Given the description of an element on the screen output the (x, y) to click on. 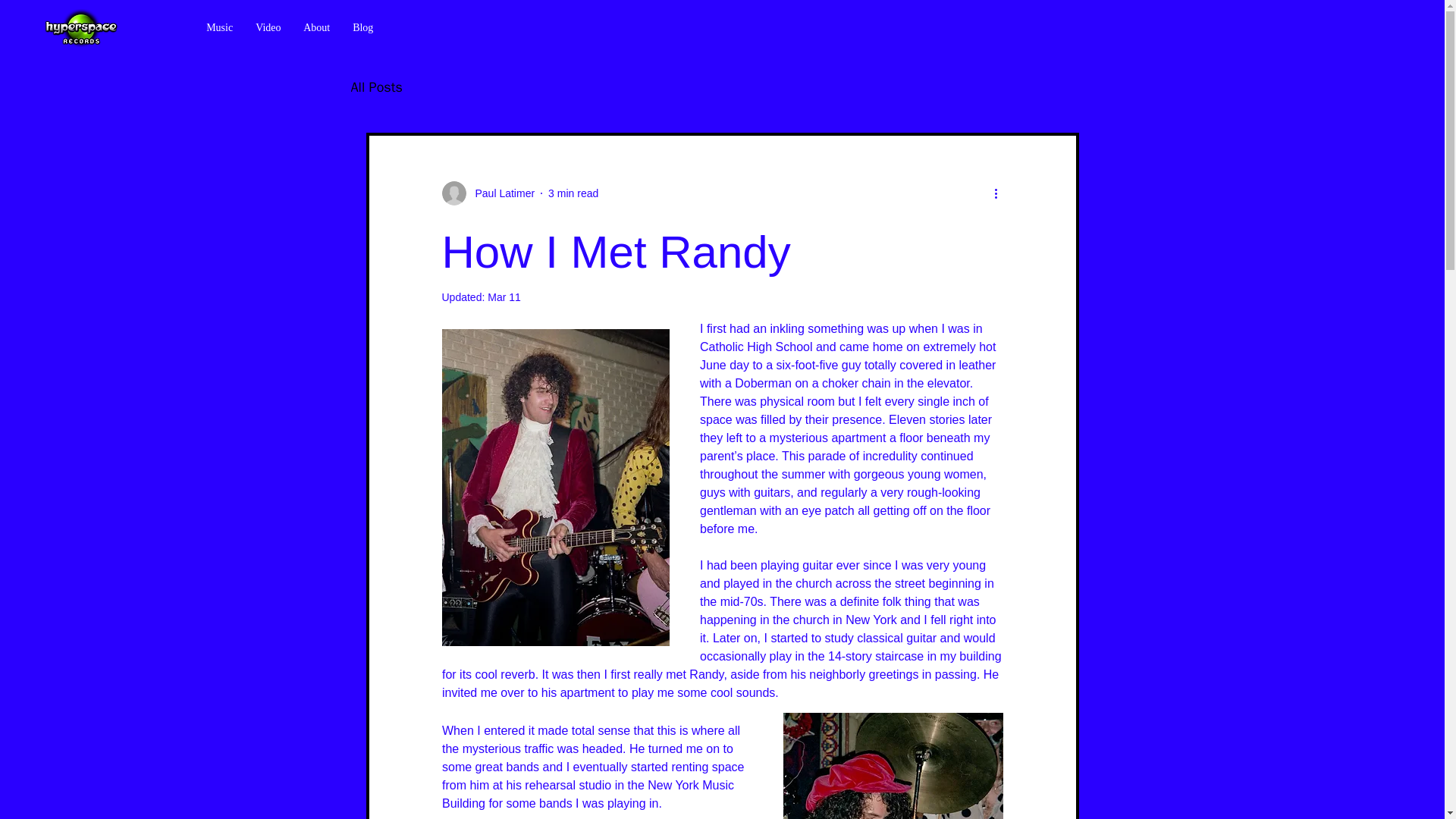
3 min read (573, 192)
Paul Latimer (499, 192)
Video (268, 27)
About (316, 27)
Paul Latimer (487, 192)
All Posts (375, 86)
Music (219, 27)
Blog (362, 27)
Mar 11 (504, 297)
